Given the description of an element on the screen output the (x, y) to click on. 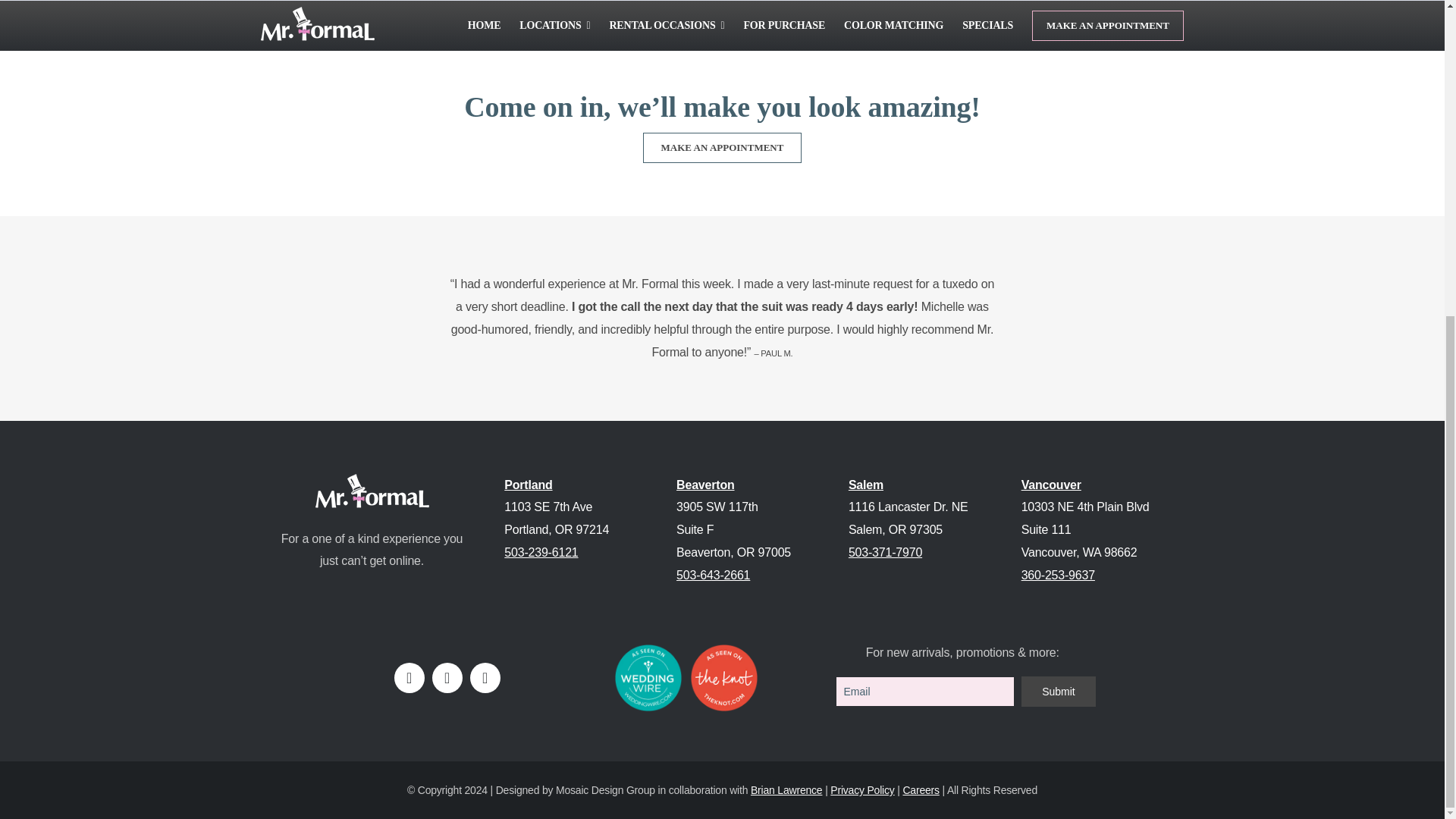
Facebook (409, 677)
Pinterest (485, 677)
Submit (1058, 691)
Instagram (447, 677)
